Given the description of an element on the screen output the (x, y) to click on. 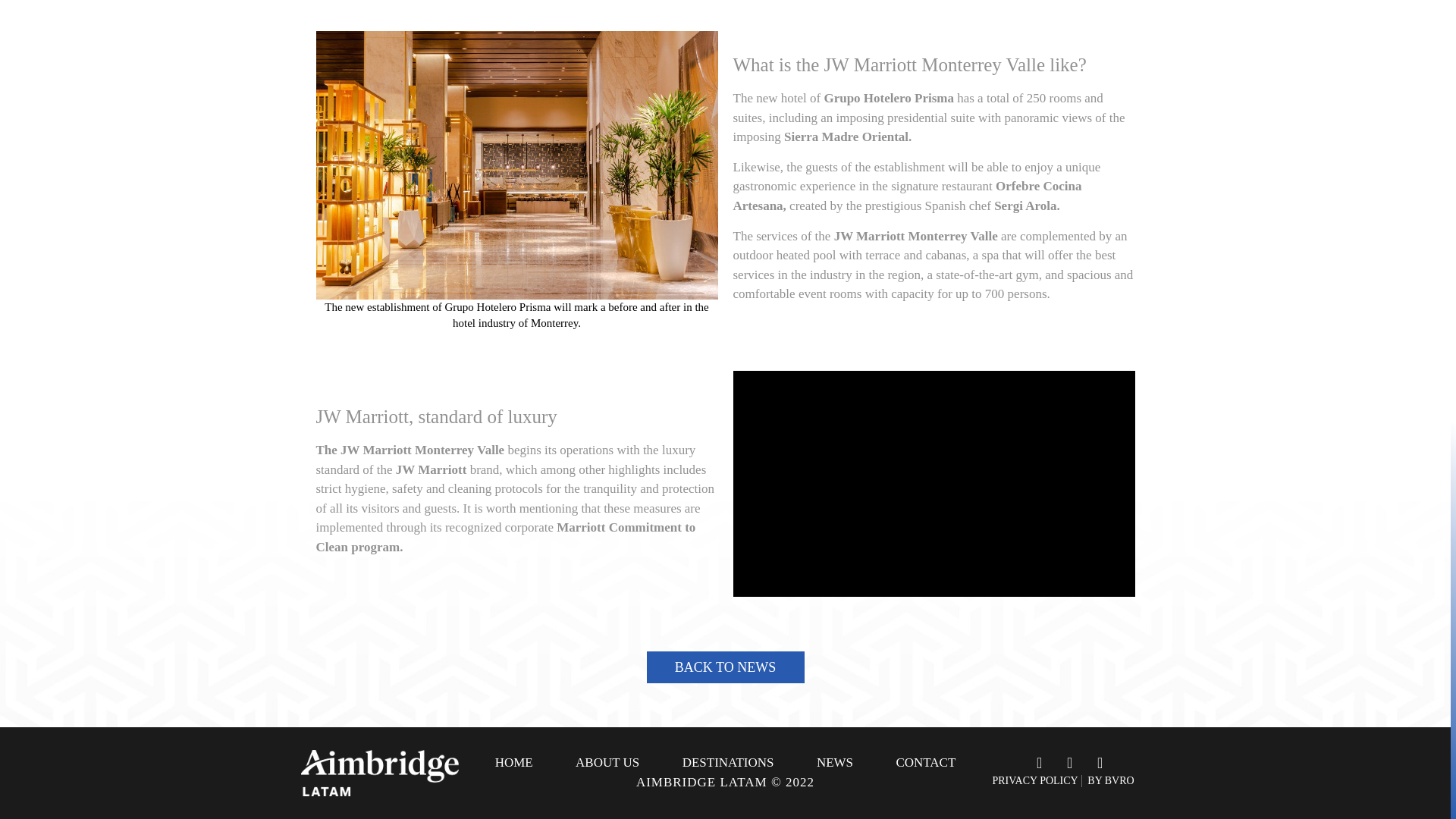
BACK TO NEWS (724, 667)
DESTINATIONS (727, 762)
ABOUT US (607, 762)
PRIVACY POLICY (1035, 780)
CONTACT (925, 762)
HOME (513, 762)
BY BVRO (1110, 780)
NEWS (834, 762)
youtube Video Player (933, 484)
